Given the description of an element on the screen output the (x, y) to click on. 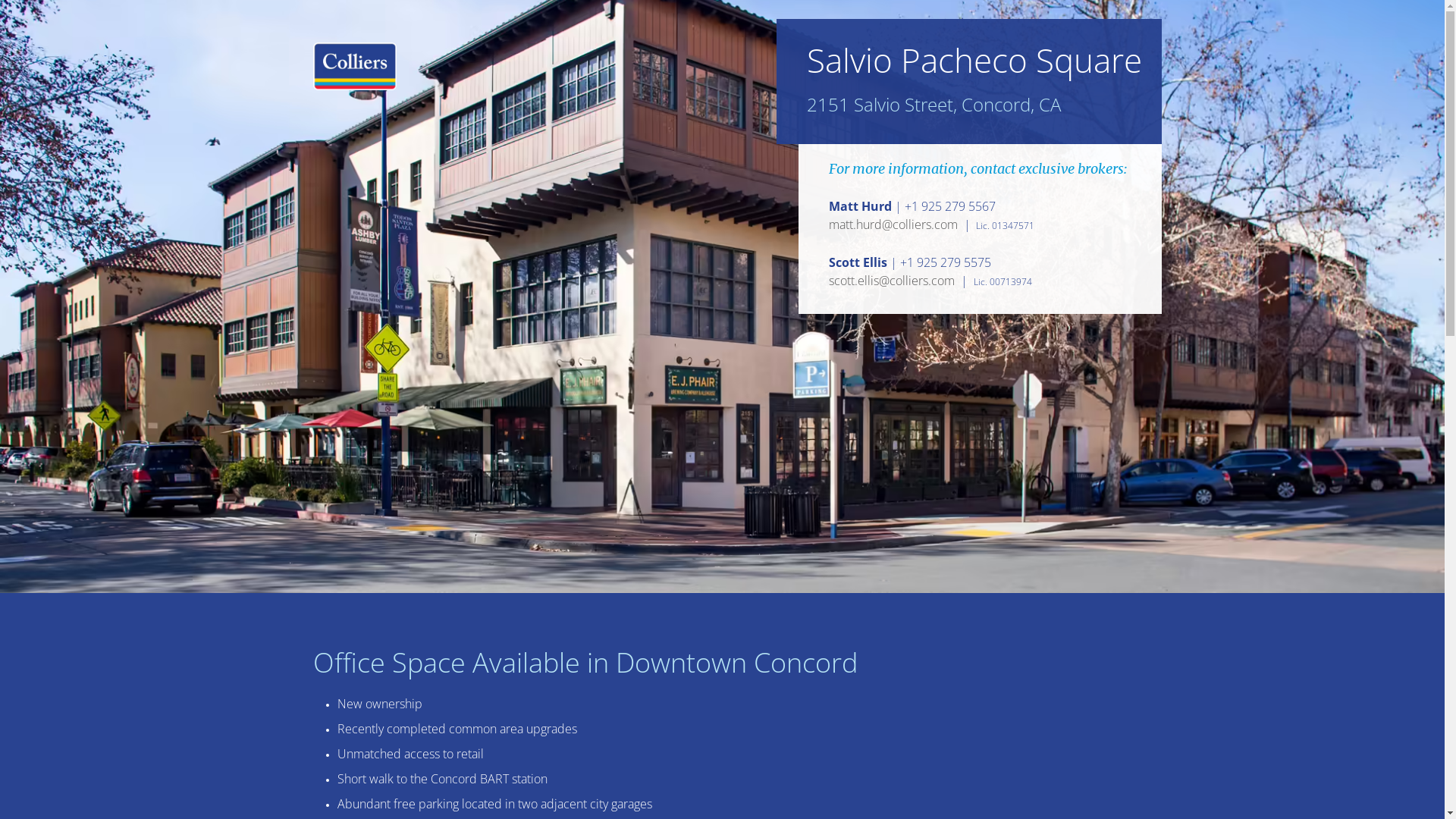
matt.hurd@colliers.com Element type: text (892, 225)
scott.ellis@colliers.com Element type: text (891, 281)
